Given the description of an element on the screen output the (x, y) to click on. 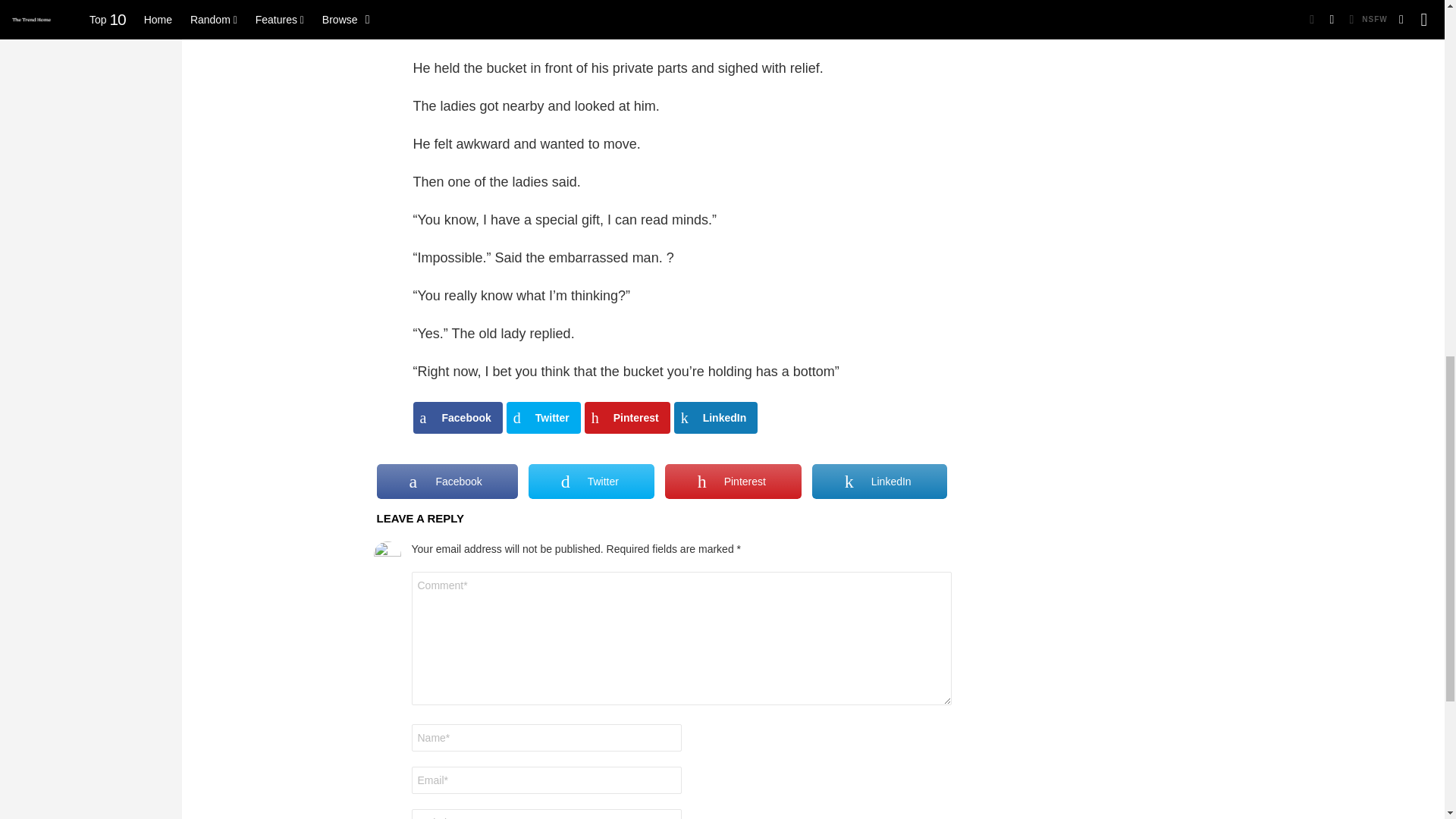
Share on Twitter (543, 418)
Twitter (543, 418)
Twitter (590, 481)
Share on Pinterest (627, 418)
Facebook (445, 481)
LinkedIn (879, 481)
LinkedIn (716, 418)
Pinterest (627, 418)
Share on LinkedIn (716, 418)
Pinterest (733, 481)
